Given the description of an element on the screen output the (x, y) to click on. 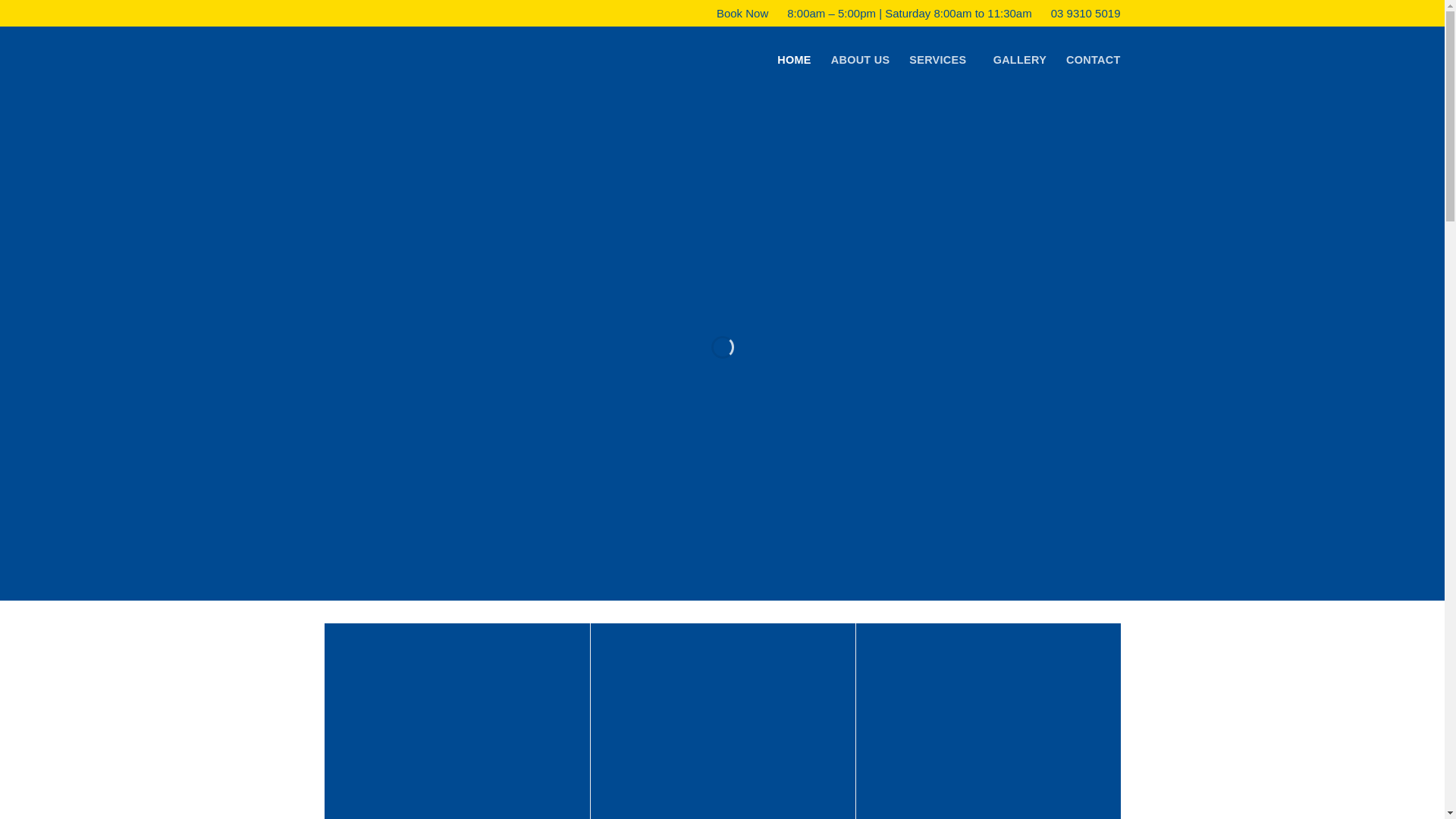
HOME Element type: text (793, 59)
Book Now Element type: text (738, 13)
CONTACT Element type: text (1093, 59)
Good Year Airport West Element type: hover (456, 60)
SERVICES Element type: text (940, 59)
GALLERY Element type: text (1019, 59)
Skip to content Element type: text (0, 0)
03 9310 5019 Element type: text (1081, 13)
ABOUT US Element type: text (860, 59)
